Given the description of an element on the screen output the (x, y) to click on. 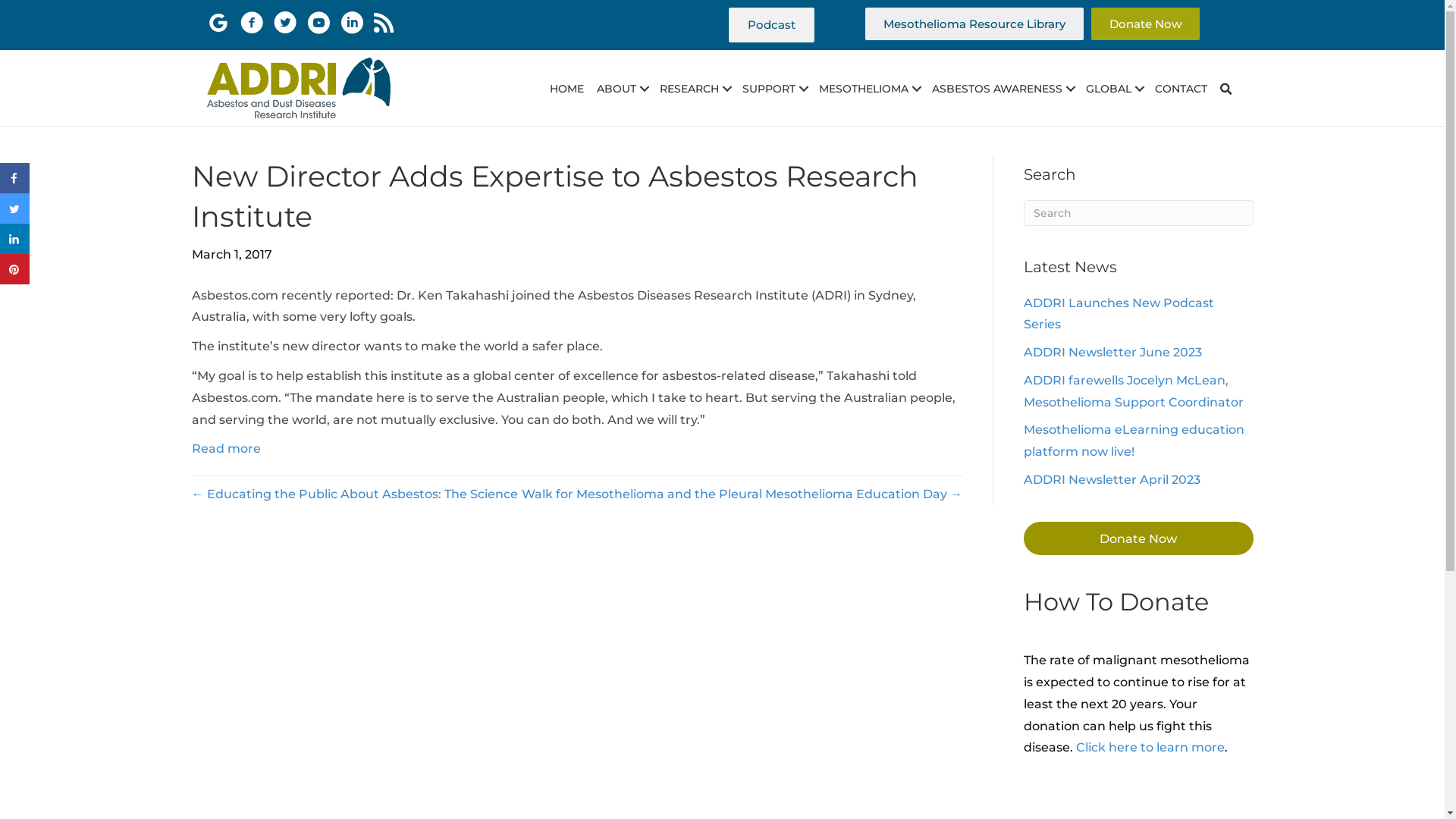
ABOUT Element type: text (621, 88)
ADDRI Newsletter June 2023 Element type: text (1112, 352)
CONTACT Element type: text (1180, 88)
Click here to learn more Element type: text (1150, 747)
ADDRI Launches New Podcast Series Element type: text (1118, 313)
Mesothelioma eLearning education platform now live! Element type: text (1133, 440)
MESOTHELIOMA Element type: text (868, 88)
Read more Element type: text (225, 448)
ADDRI Newsletter April 2023 Element type: text (1111, 479)
SUPPORT Element type: text (774, 88)
RESEARCH Element type: text (694, 88)
Type and press Enter to search. Element type: hover (1138, 212)
Mesothelioma Resource Library Element type: text (974, 23)
Donate Now Element type: text (1138, 538)
HOME Element type: text (566, 88)
Donate Now Element type: text (1145, 23)
ASBESTOS AWARENESS Element type: text (1002, 88)
Podcast Element type: text (771, 24)
GLOBAL Element type: text (1113, 88)
